Given the description of an element on the screen output the (x, y) to click on. 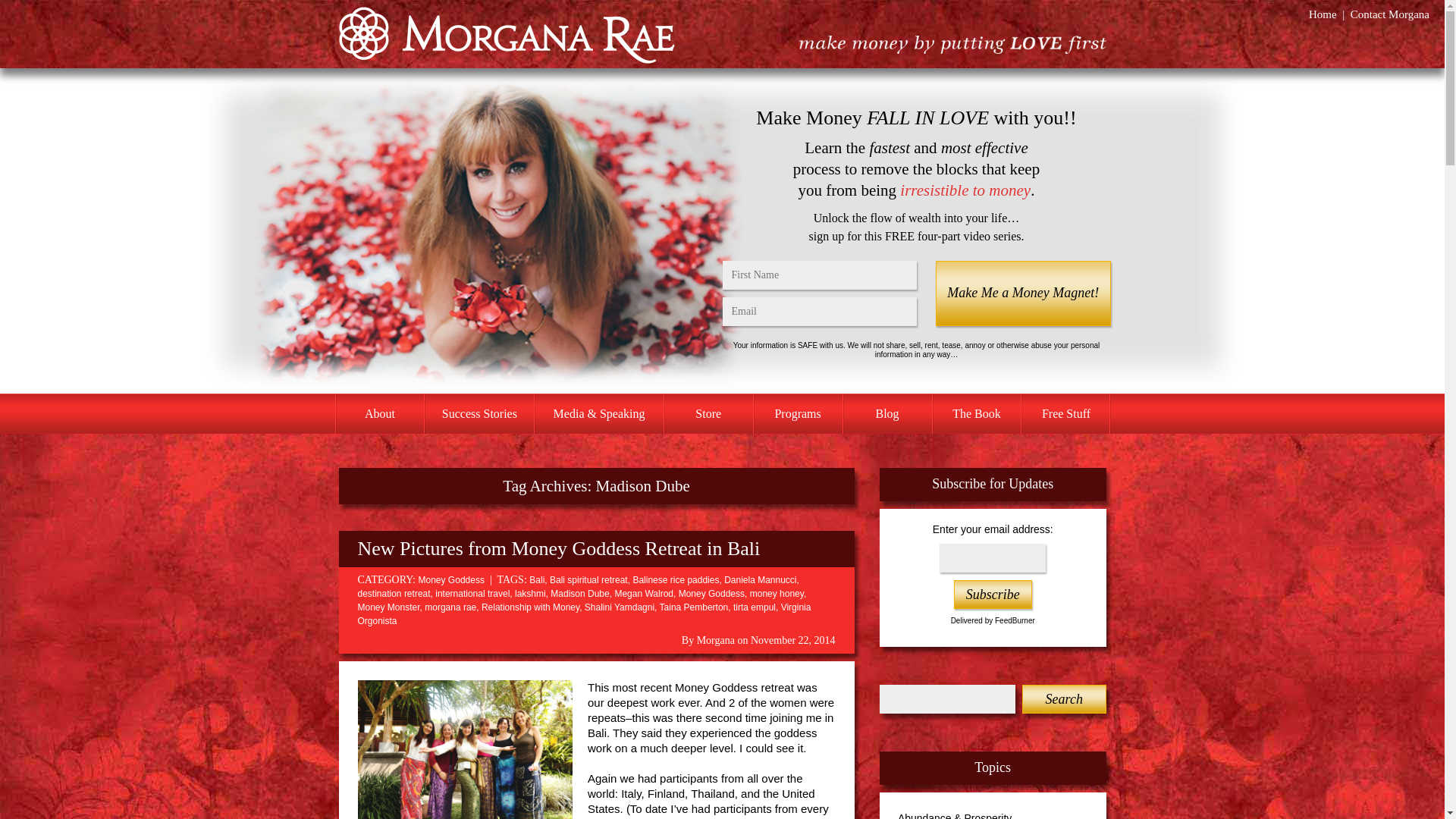
About (378, 413)
Posts by Morgana (716, 640)
The Book (977, 413)
Permalink to New Pictures from Money Goddess Retreat in Bali (559, 548)
Make Me a Money Magnet! (1022, 293)
Contact Morgana (1390, 14)
Home (1322, 14)
Search (1063, 698)
Free Stuff (1065, 413)
Subscribe (992, 594)
Store (707, 413)
Success Stories (479, 413)
Make Me a Money Magnet! (1022, 293)
Programs (798, 413)
Blog (887, 413)
